Given the description of an element on the screen output the (x, y) to click on. 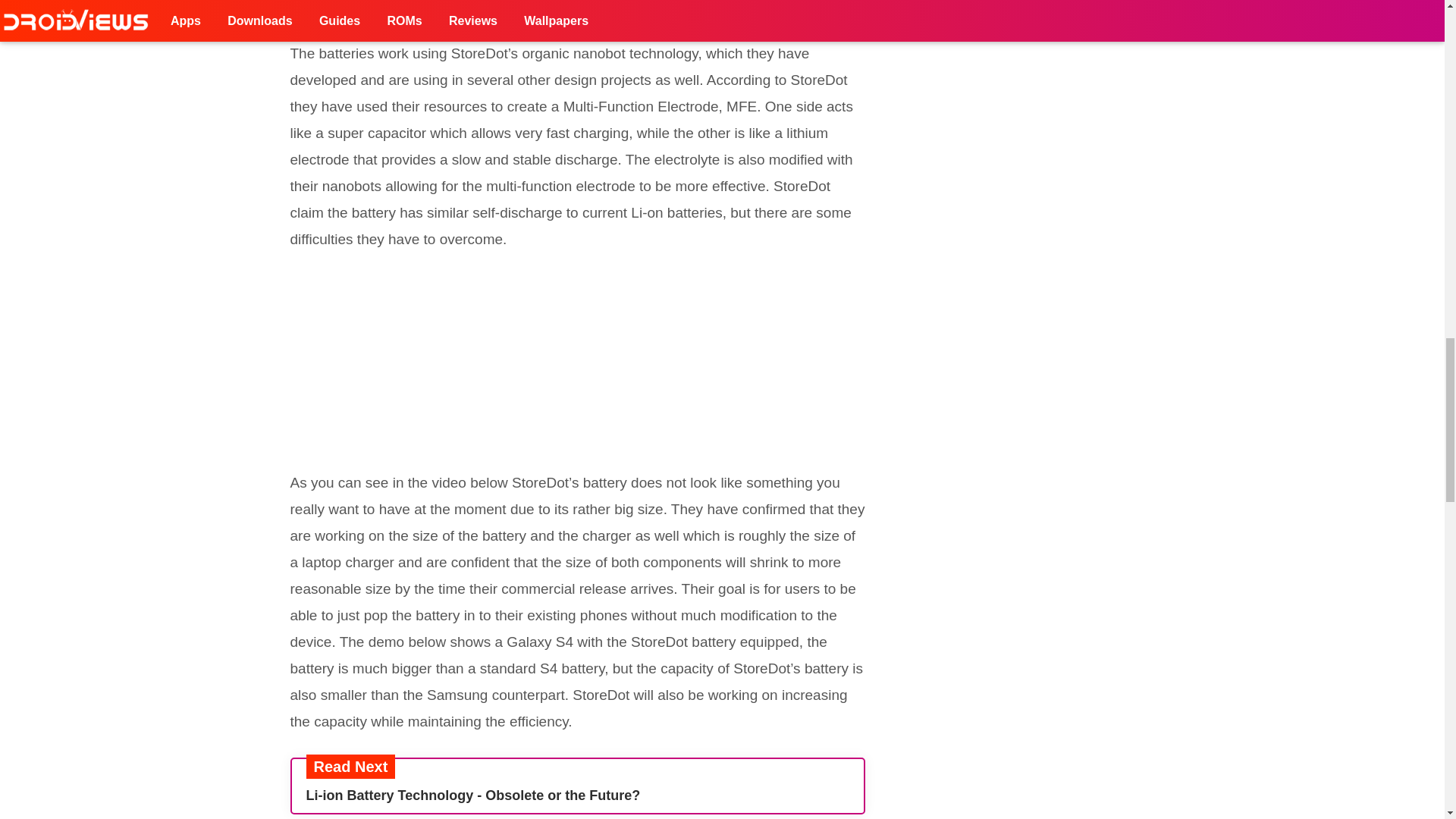
Li-ion Battery Technology - Obsolete or the Future? (576, 795)
